Given the description of an element on the screen output the (x, y) to click on. 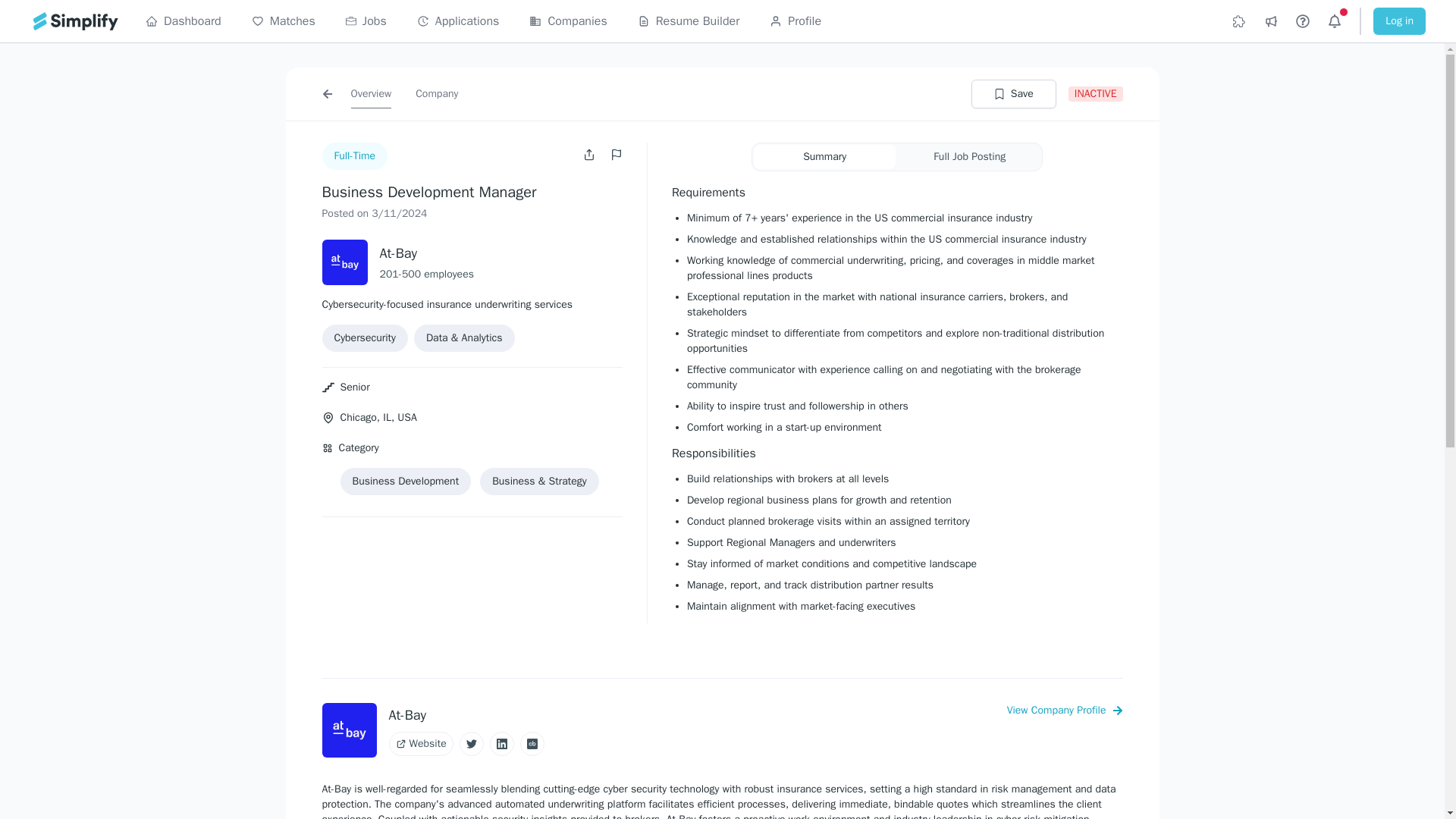
Dashboard (183, 21)
Log in (1399, 21)
Profile (795, 21)
View Company Profile (1064, 710)
Jobs (366, 21)
Company (436, 93)
Matches (283, 21)
Companies (568, 21)
Overview (370, 93)
Applications (457, 21)
Website (420, 743)
Summary (824, 156)
Save (1014, 93)
Resume Builder (688, 21)
Full Job Posting (969, 156)
